Given the description of an element on the screen output the (x, y) to click on. 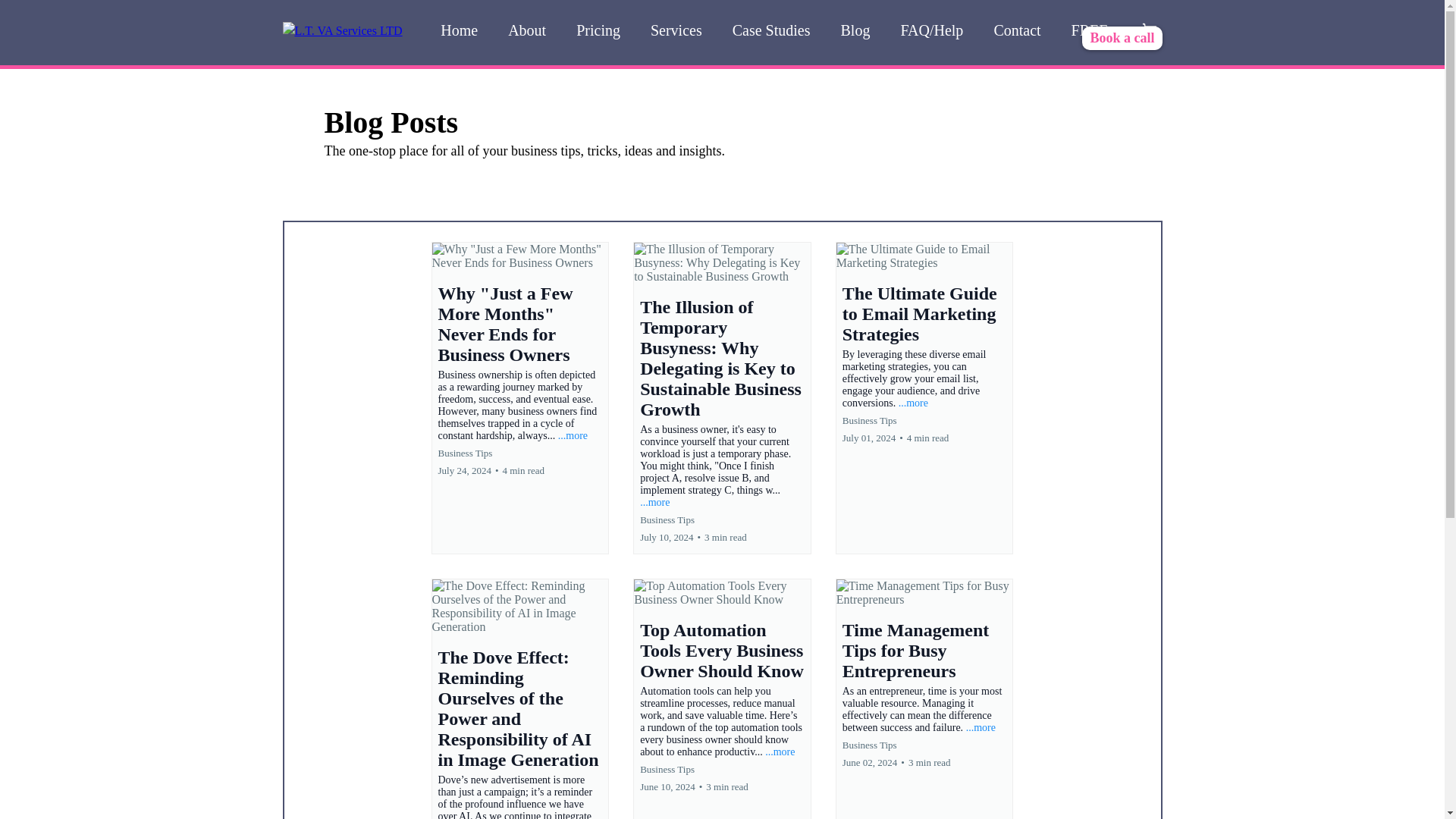
Case Studies (771, 30)
Contact (1016, 30)
About (526, 30)
Home (459, 30)
...more (572, 435)
Top Automation Tools Every Business Owner Should Know (721, 649)
Time Management Tips for Busy Entrepreneurs (916, 649)
...more (779, 751)
Pricing (597, 30)
...more (913, 402)
Why "Just a Few More Months" Never Ends for Business Owners (505, 323)
FREE (1090, 30)
Blog (855, 30)
